Given the description of an element on the screen output the (x, y) to click on. 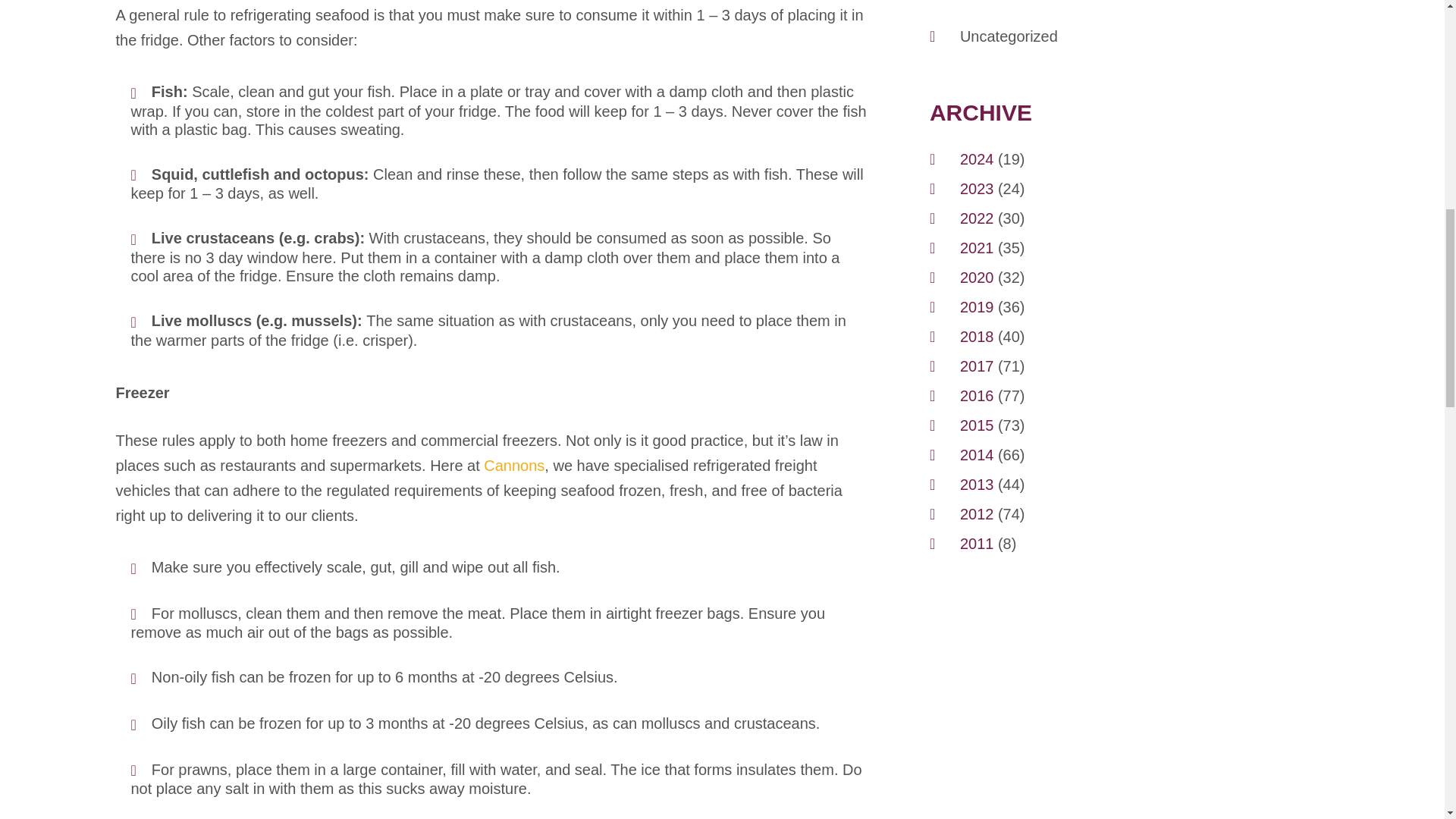
2024 (976, 158)
Uncategorized (1008, 36)
Cannons (513, 467)
2022 (976, 217)
2023 (976, 188)
